Given the description of an element on the screen output the (x, y) to click on. 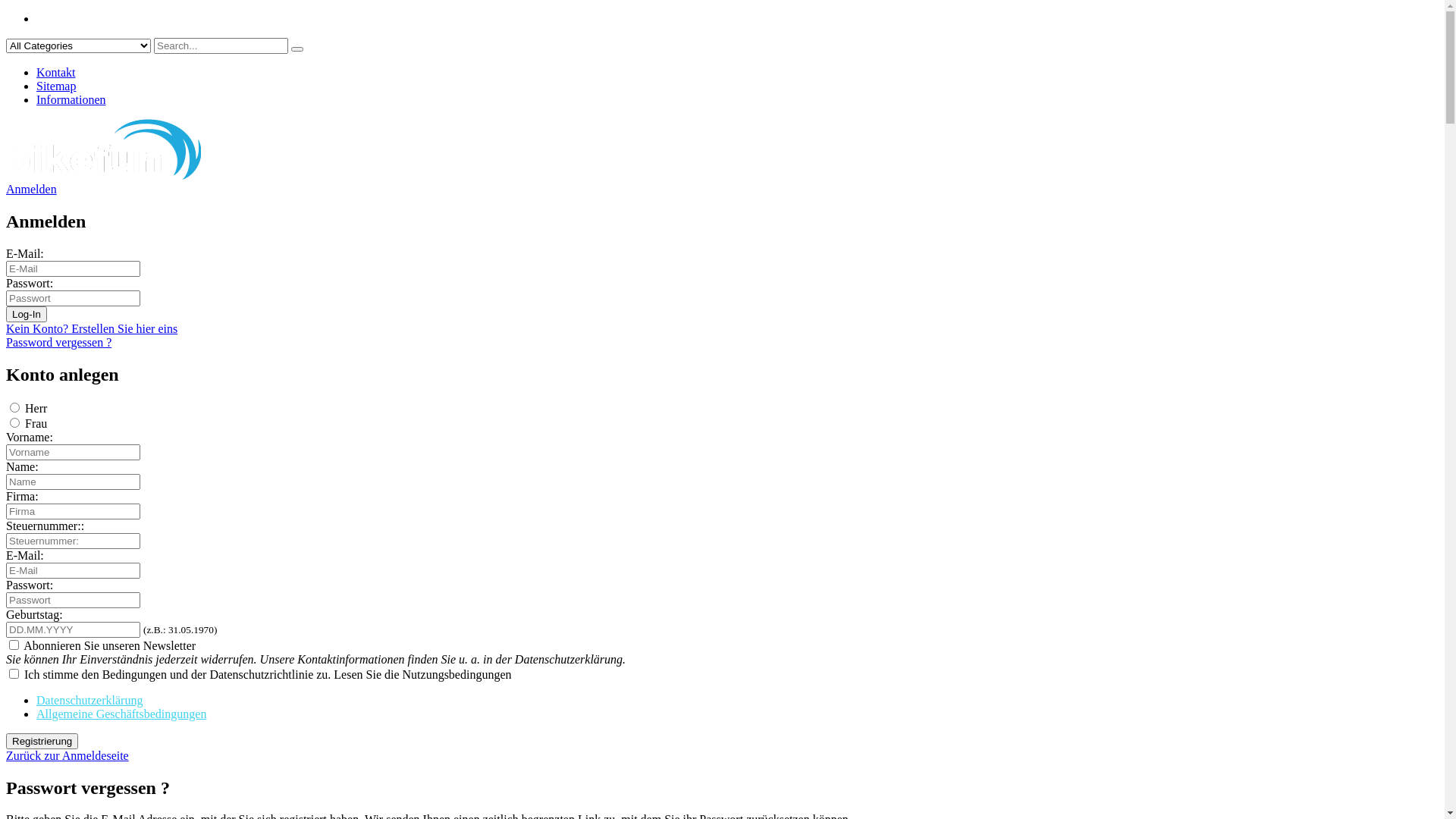
Informationen Element type: text (71, 99)
Password vergessen ? Element type: text (58, 341)
Kontakt Element type: text (55, 71)
Registrierung Element type: text (42, 741)
Kein Konto? Erstellen Sie hier eins Element type: text (91, 328)
Anmelden Element type: text (31, 188)
Sitemap Element type: text (55, 85)
Bikefun.ch Element type: hover (103, 175)
Log-In Element type: text (26, 314)
